Given the description of an element on the screen output the (x, y) to click on. 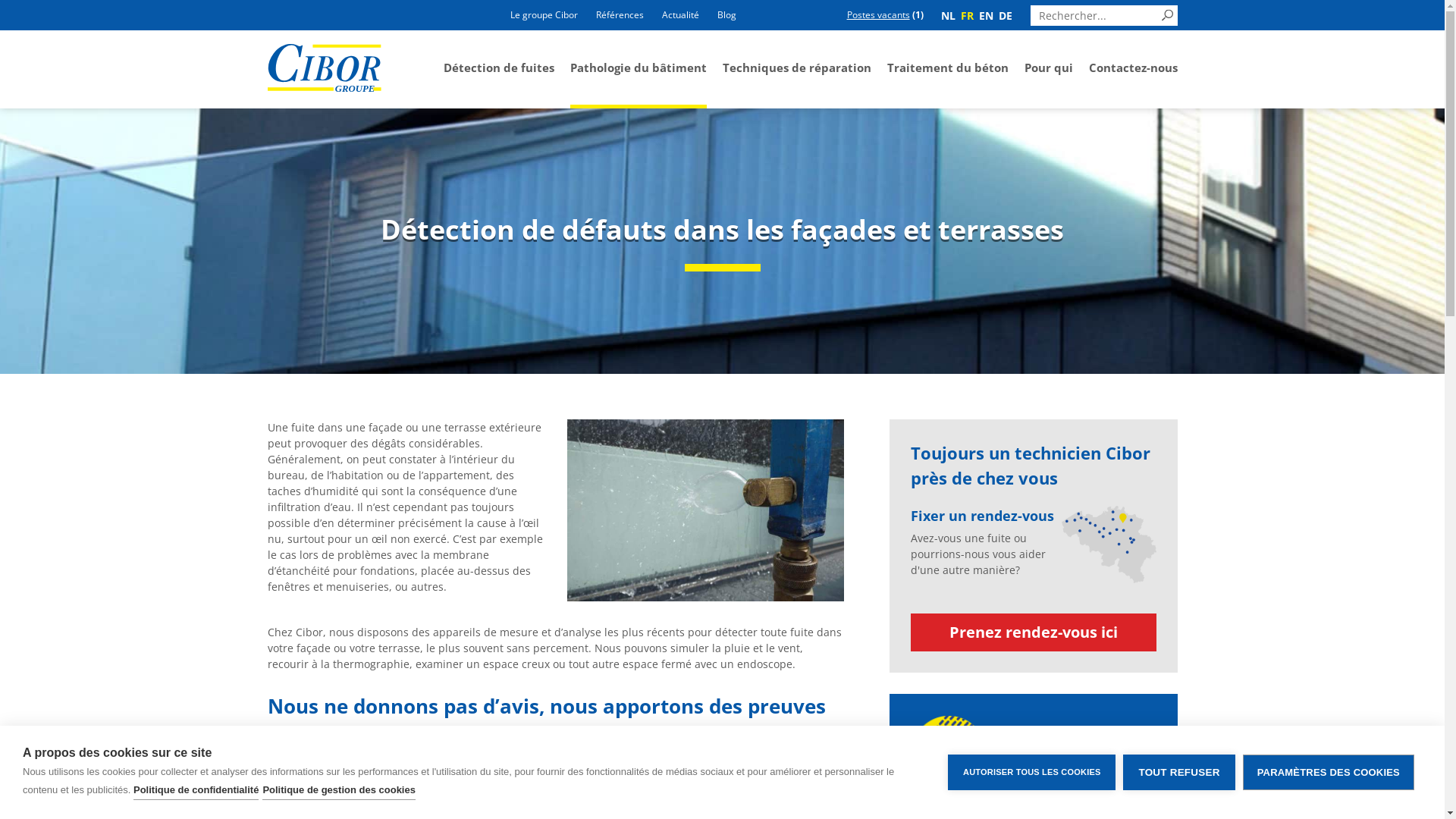
Contactez-nous Element type: text (1132, 69)
Search Element type: text (1167, 16)
AUTORISER TOUS LES COOKIES Element type: text (1031, 772)
NL Element type: text (948, 14)
Prenez rendez-vous ici Element type: text (1032, 632)
Rechercher: Element type: hover (1102, 14)
FR Element type: text (967, 14)
DE Element type: text (1005, 14)
TOUT REFUSER Element type: text (1178, 772)
014 570 330 Element type: text (1075, 766)
EN Element type: text (986, 14)
Le groupe Cibor Element type: text (543, 14)
Postes vacants (1) Element type: text (885, 14)
Politique de gestion des cookies Element type: text (338, 790)
Pour qui Element type: text (1047, 69)
Blog Element type: text (726, 14)
